Given the description of an element on the screen output the (x, y) to click on. 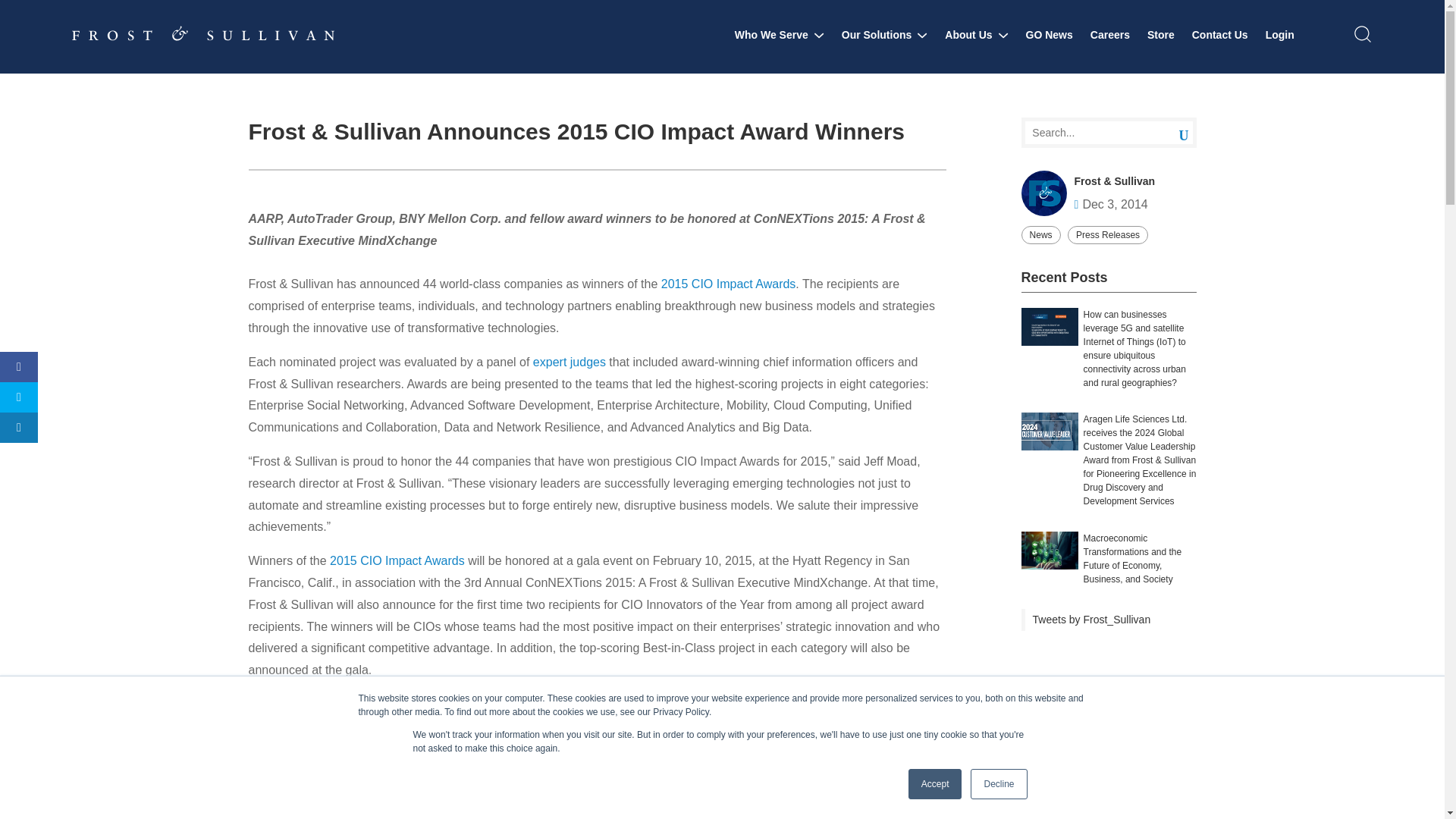
Decline (998, 784)
Who We Serve (779, 35)
Accept (935, 784)
Search (1172, 132)
